Given the description of an element on the screen output the (x, y) to click on. 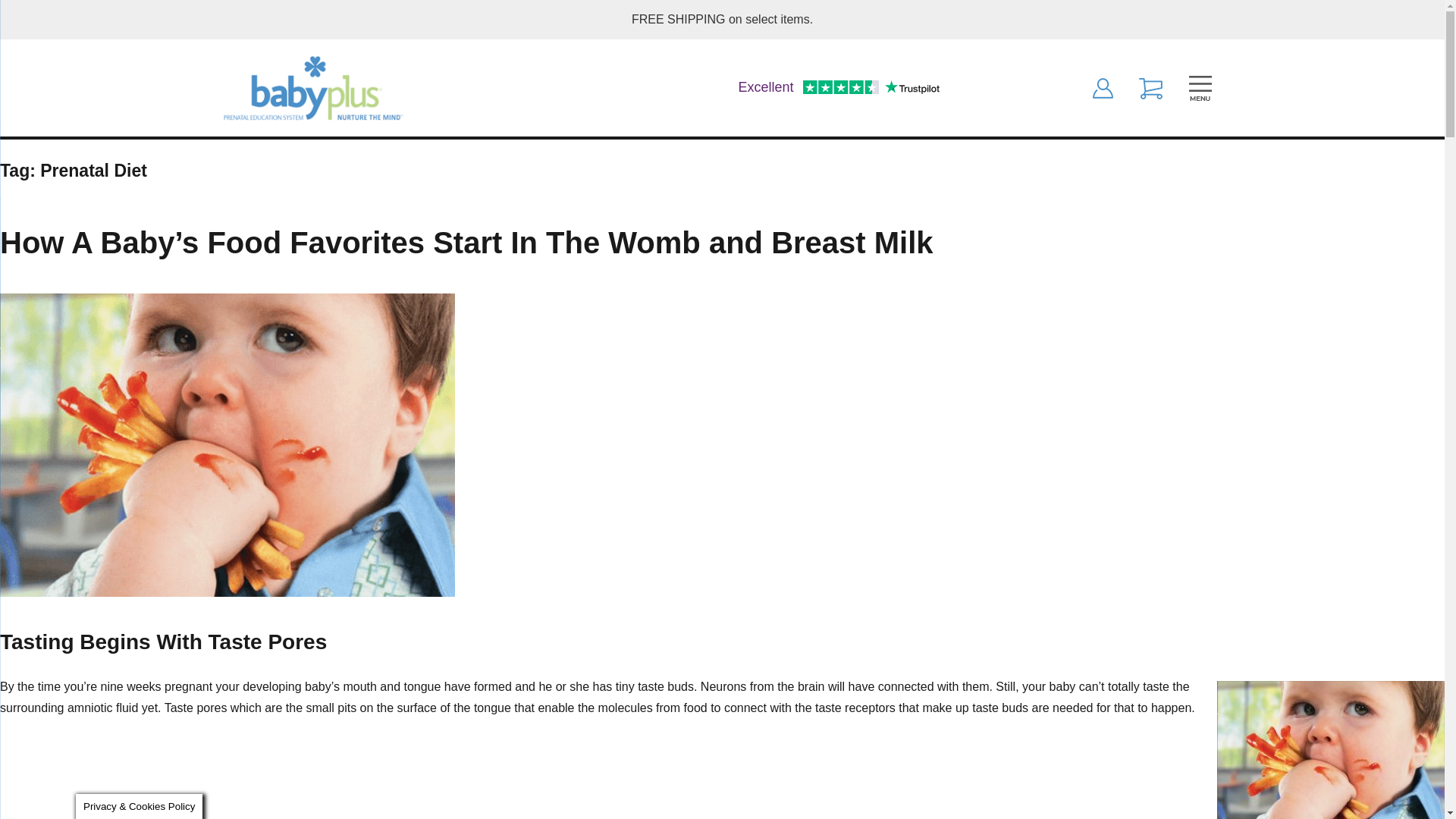
Customer reviews powered by Trustpilot (838, 88)
View Cart (1149, 86)
